Given the description of an element on the screen output the (x, y) to click on. 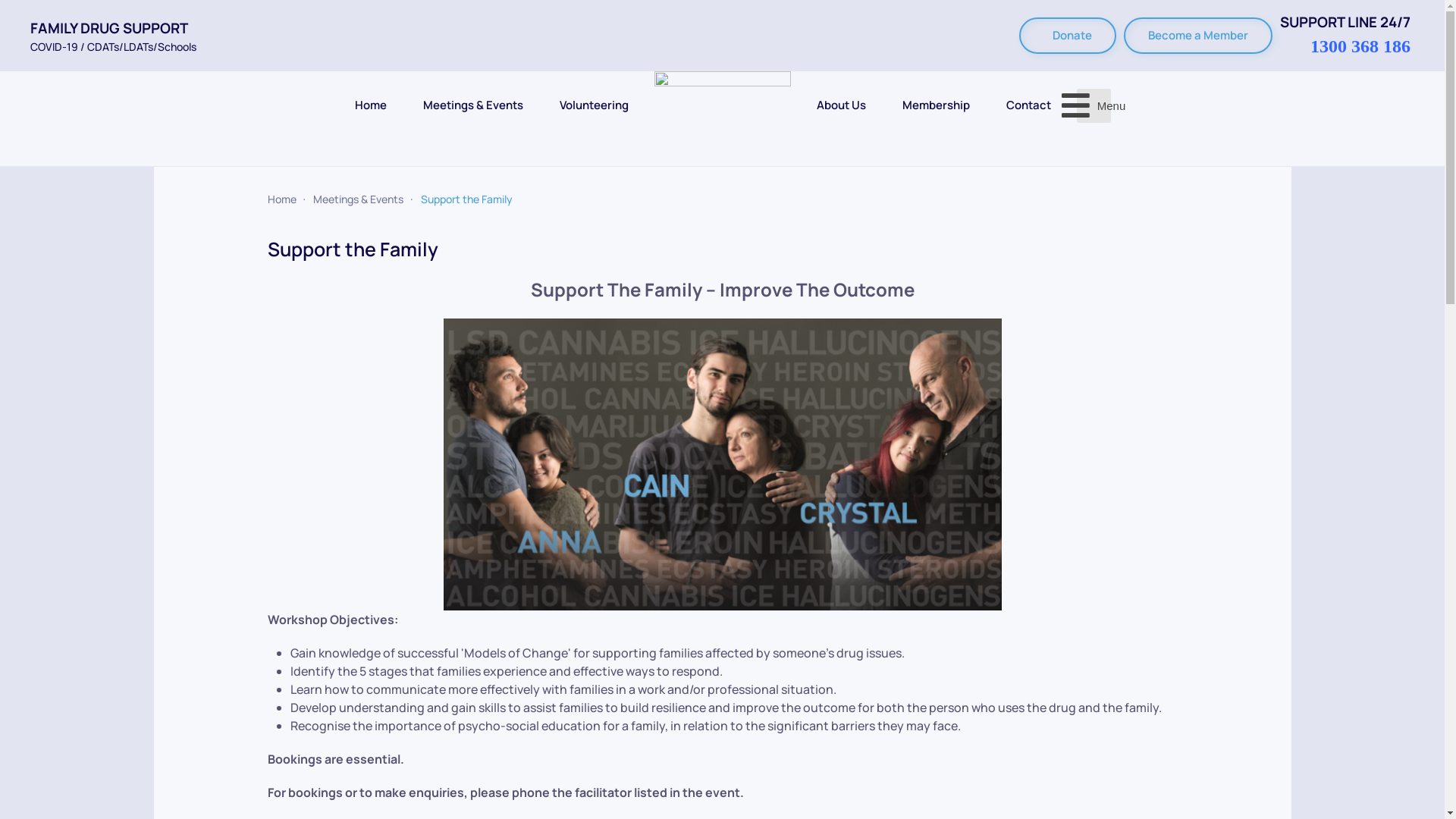
Membership Element type: text (935, 105)
Meetings & Events Element type: text (358, 198)
    Donate Element type: text (1067, 35)
Volunteering Element type: text (594, 105)
COVID-19 Element type: text (54, 46)
About Us Element type: text (840, 105)
Meetings & Events Element type: text (472, 105)
Home Element type: text (280, 198)
Menu Element type: text (1093, 104)
CDATs/LDATs/Schools Element type: text (141, 46)
1300 368 186 Element type: text (1360, 46)
Contact Element type: text (1027, 105)
Home Element type: text (370, 105)
Become a Member Element type: text (1197, 35)
